Given the description of an element on the screen output the (x, y) to click on. 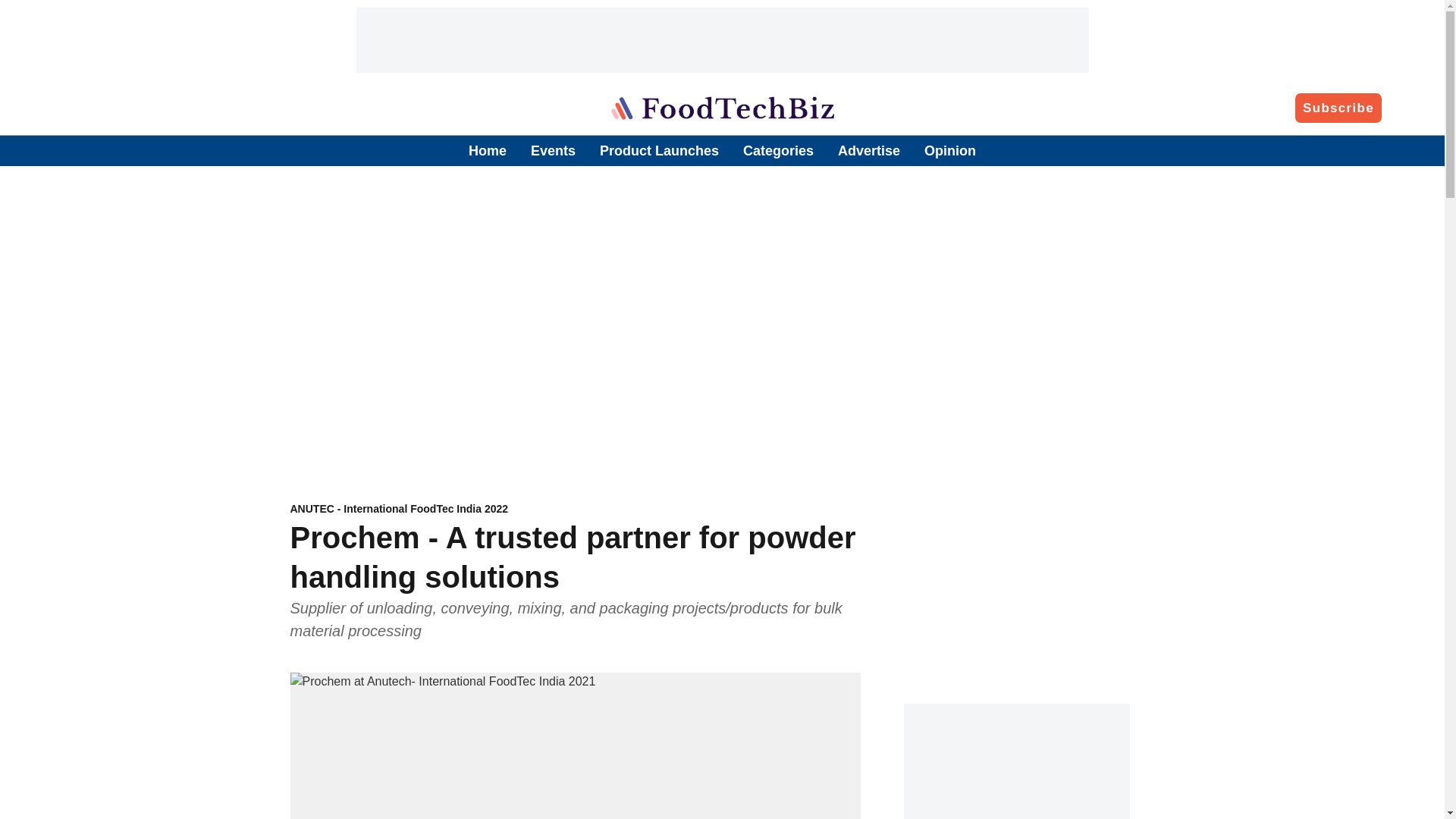
Subscribe (1338, 107)
Opinion (949, 150)
Home (722, 151)
ANUTEC - International FoodTec India 2022 (487, 150)
Product Launches (574, 509)
Advertise (659, 150)
